Given the description of an element on the screen output the (x, y) to click on. 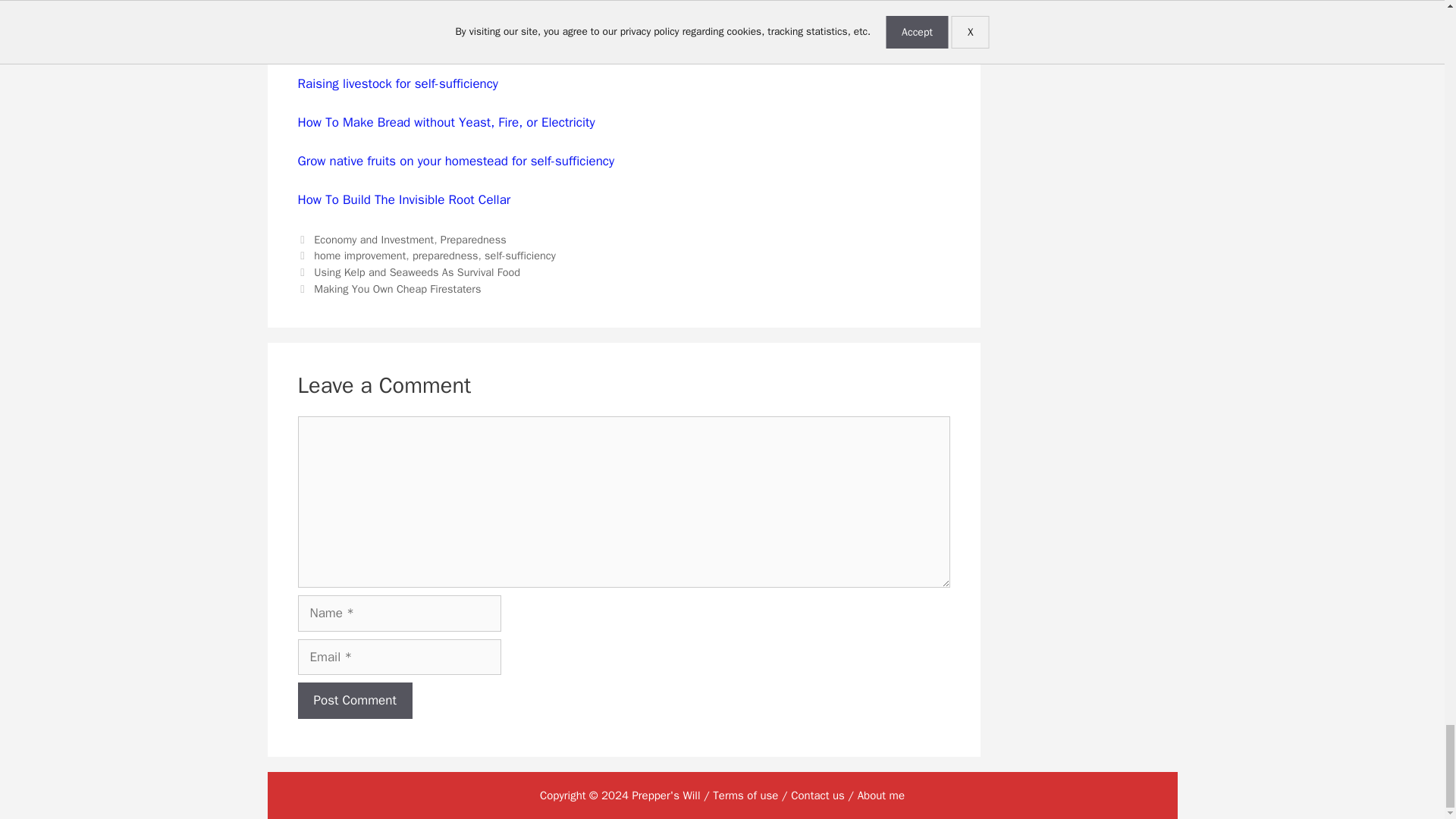
How To Make Bread without Yeast, Fire, or Electricity (445, 122)
Preparedness (473, 239)
How (309, 199)
Economy and Investment (373, 239)
home improvement (360, 255)
Post Comment (354, 700)
Grow native fruits on your homestead for self-sufficiency (455, 160)
Build The Invisible Root Cellar (425, 199)
Raising livestock for self-sufficiency (397, 83)
